Given the description of an element on the screen output the (x, y) to click on. 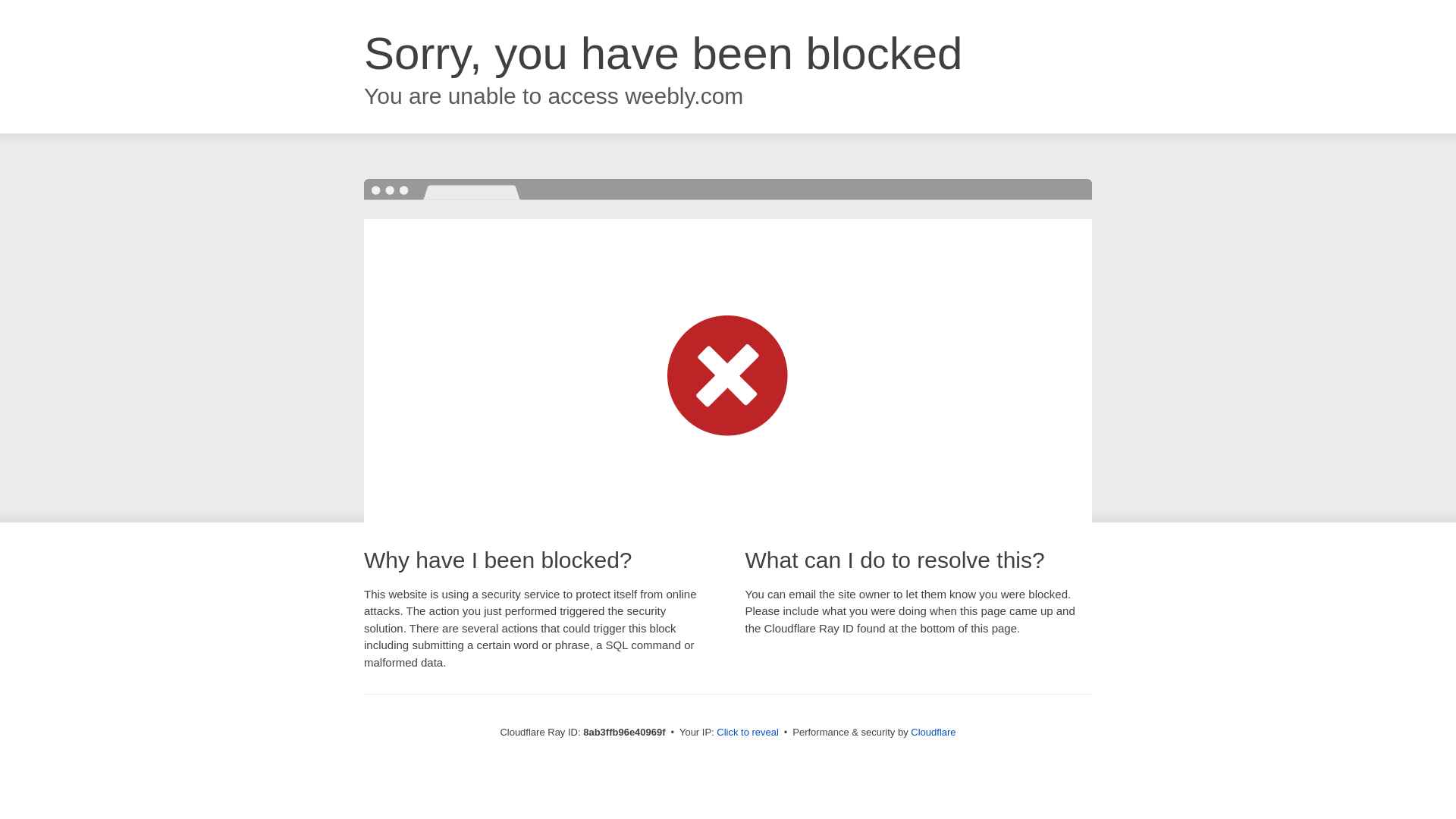
Click to reveal (747, 732)
Cloudflare (933, 731)
